Given the description of an element on the screen output the (x, y) to click on. 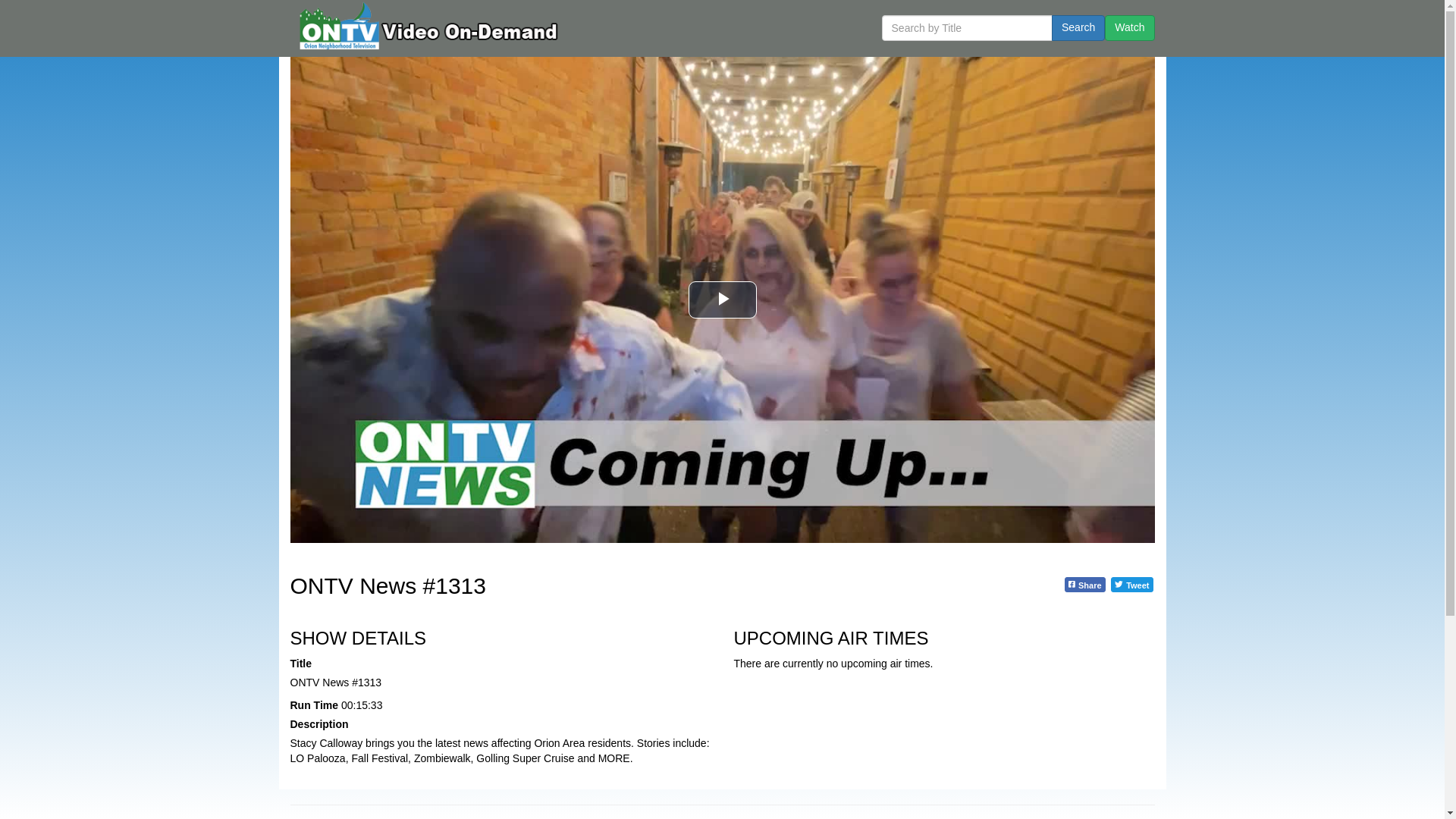
Watch (1129, 27)
Search (1078, 27)
Tweet (1131, 584)
Share (1084, 584)
